Given the description of an element on the screen output the (x, y) to click on. 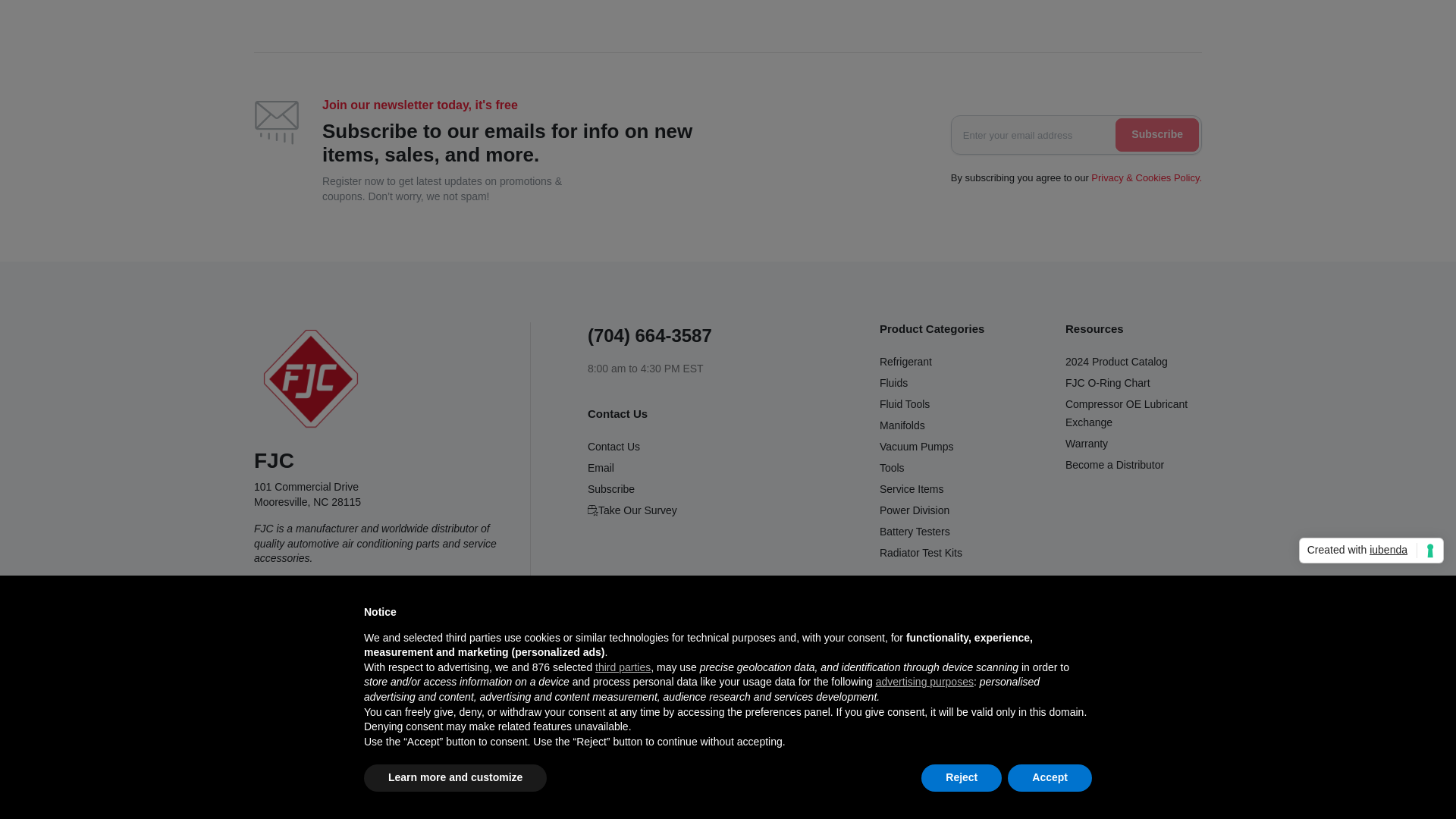
Battery Testers (914, 531)
Warranty (1086, 443)
Subscribe (611, 489)
Take Our Survey (632, 510)
Power Division (914, 510)
Service Items (911, 489)
Contact Us (614, 446)
Subscribe (1156, 134)
Fluids (893, 382)
Compressor OE Lubricant Exchange (1126, 413)
Radiator Test Kits (920, 552)
Refrigerant (905, 361)
Manifolds (901, 425)
Email (601, 467)
iubenda - Cookie Policy and Cookie Compliance Management (1371, 314)
